Given the description of an element on the screen output the (x, y) to click on. 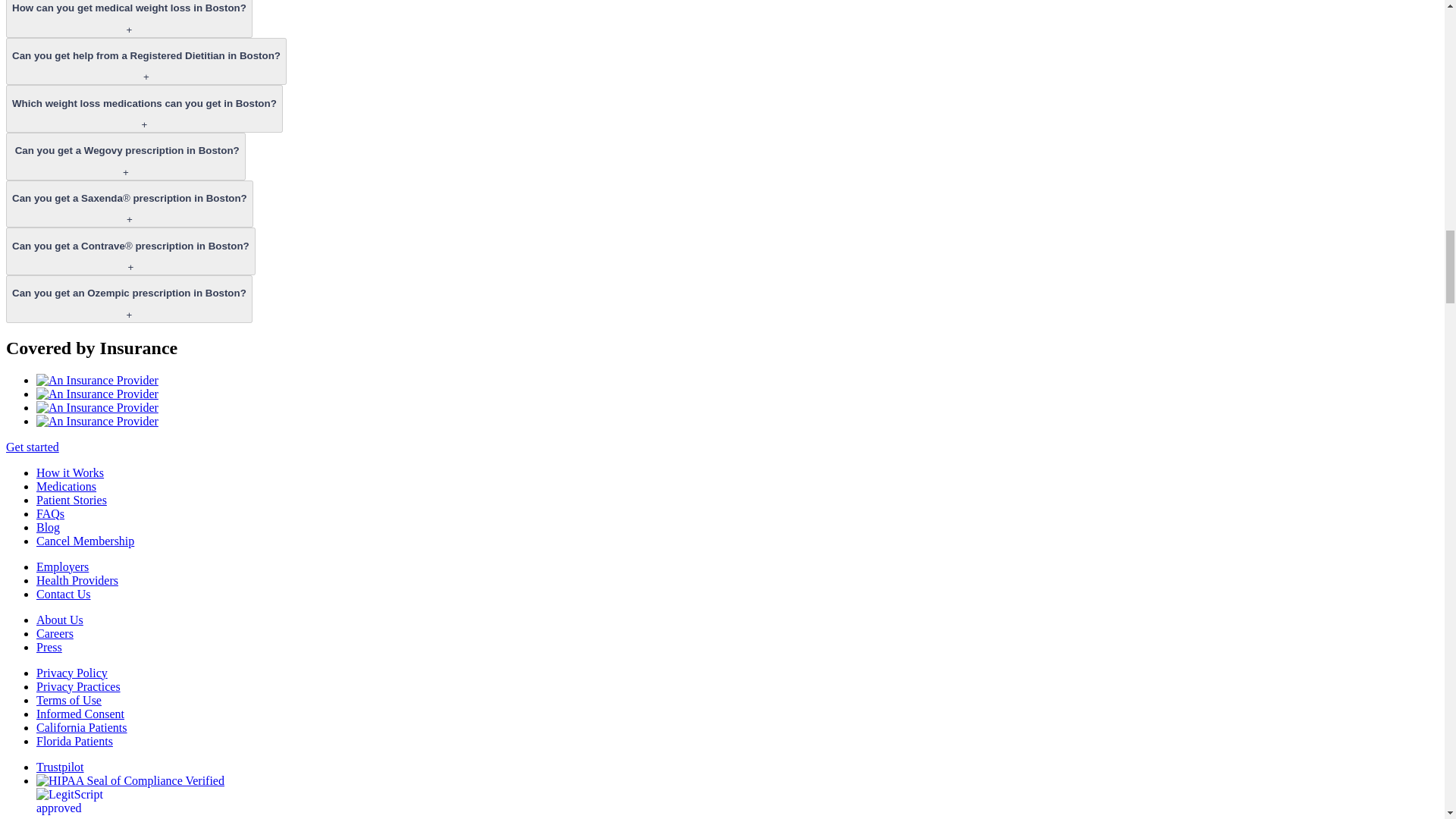
FAQs (50, 512)
Privacy Policy (71, 671)
HIPAA Verified (130, 779)
Press (49, 645)
Employers (62, 565)
Health Providers (76, 579)
How it Works (69, 472)
Careers (55, 632)
Cancel Membership (84, 540)
About Us (59, 618)
